Given the description of an element on the screen output the (x, y) to click on. 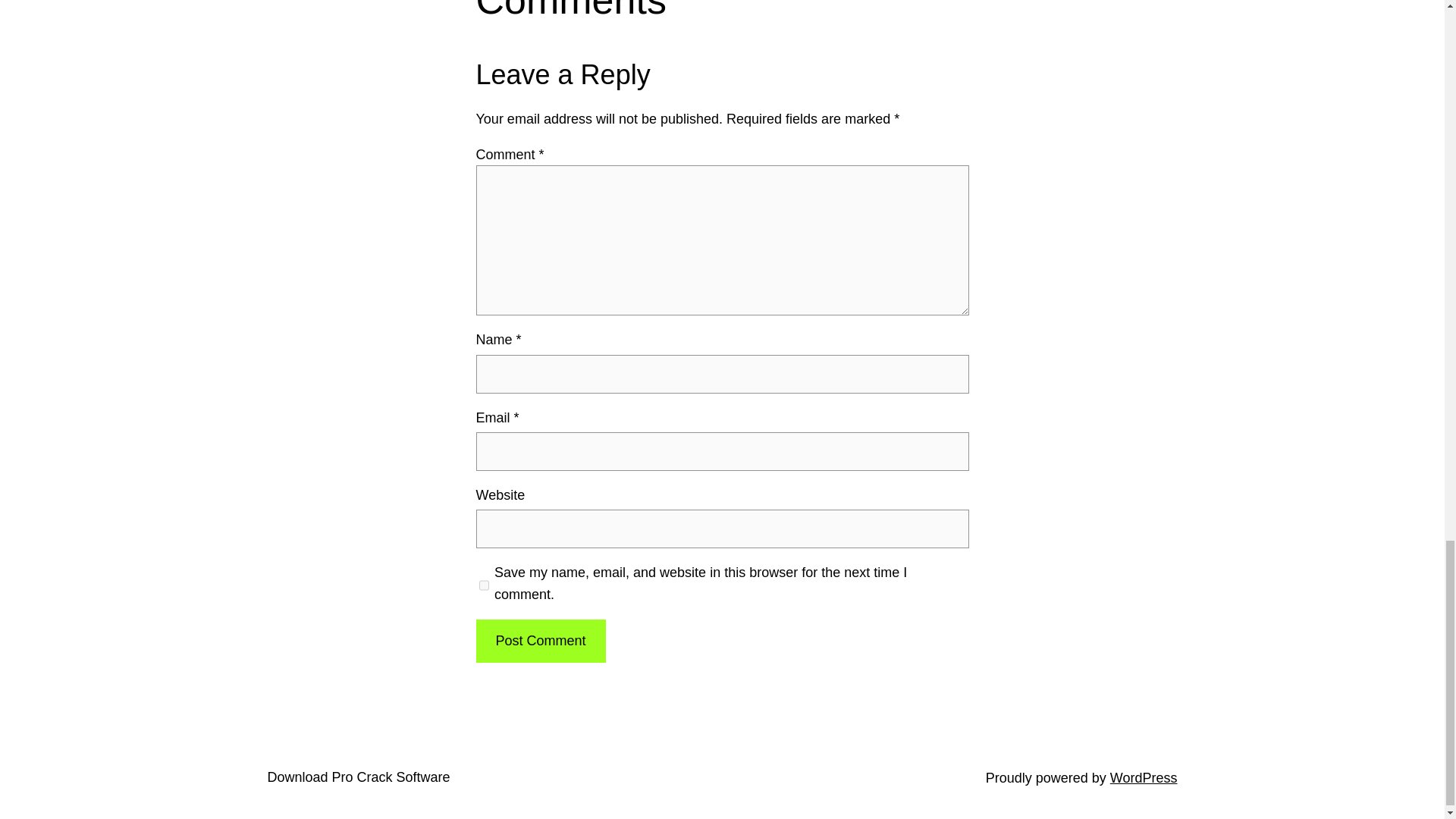
Post Comment (540, 640)
Download Pro Crack Software (357, 776)
WordPress (1143, 777)
Post Comment (540, 640)
